Given the description of an element on the screen output the (x, y) to click on. 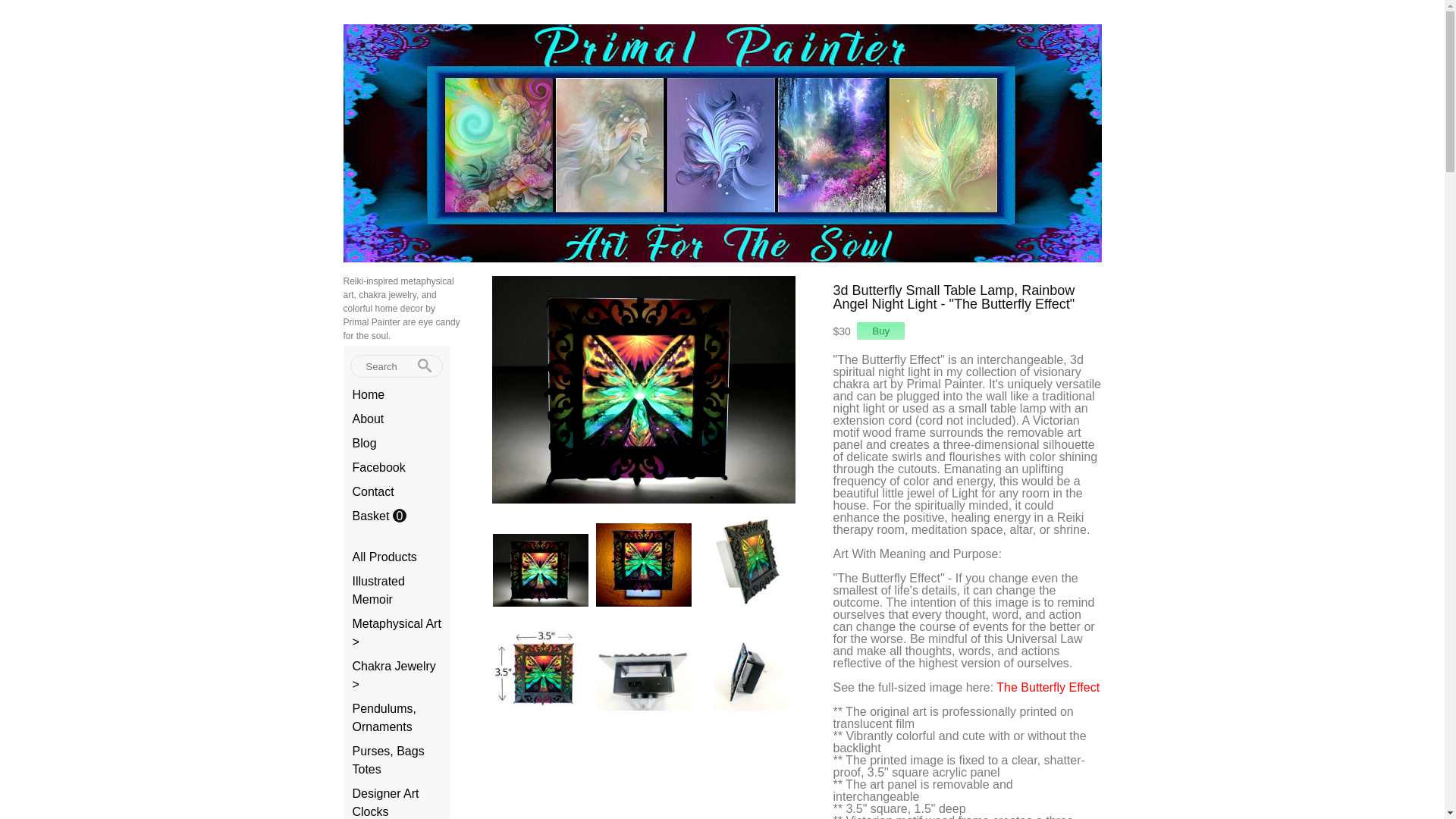
Purses, Bags Totes (387, 759)
Home (368, 394)
Contact (372, 491)
About (368, 418)
Contact (372, 491)
Basket (371, 515)
Buy (880, 330)
About (368, 418)
Illustrated Memoir (378, 590)
Blog (363, 442)
All Products (384, 556)
Facebook (378, 467)
Basket (371, 515)
Blog (363, 442)
Facebook (378, 467)
